Given the description of an element on the screen output the (x, y) to click on. 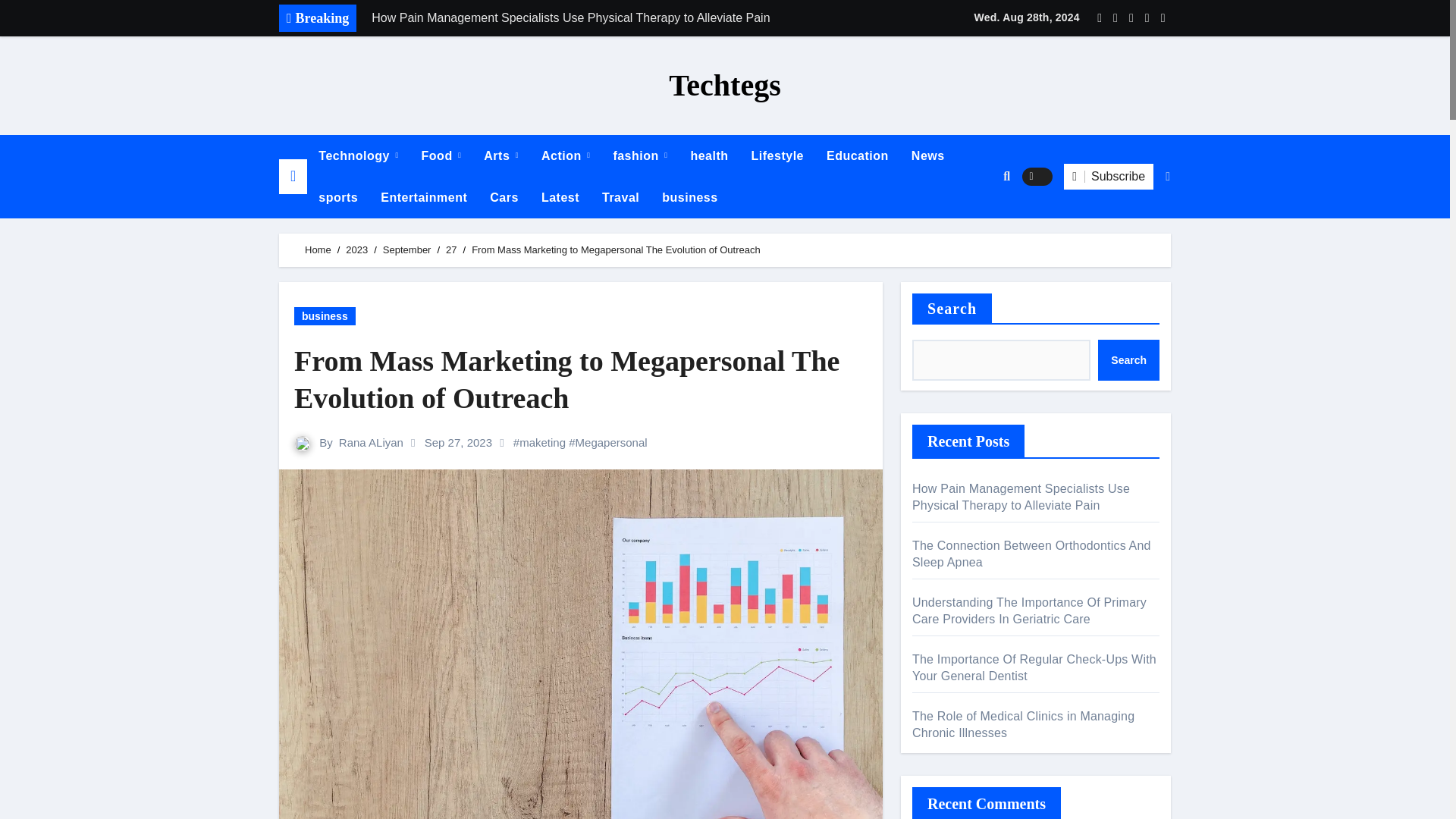
Action (565, 155)
health (708, 155)
Education (857, 155)
News (927, 155)
Entertainment (424, 197)
fashion (639, 155)
sports (338, 197)
Technology (358, 155)
Lifestyle (777, 155)
